Given the description of an element on the screen output the (x, y) to click on. 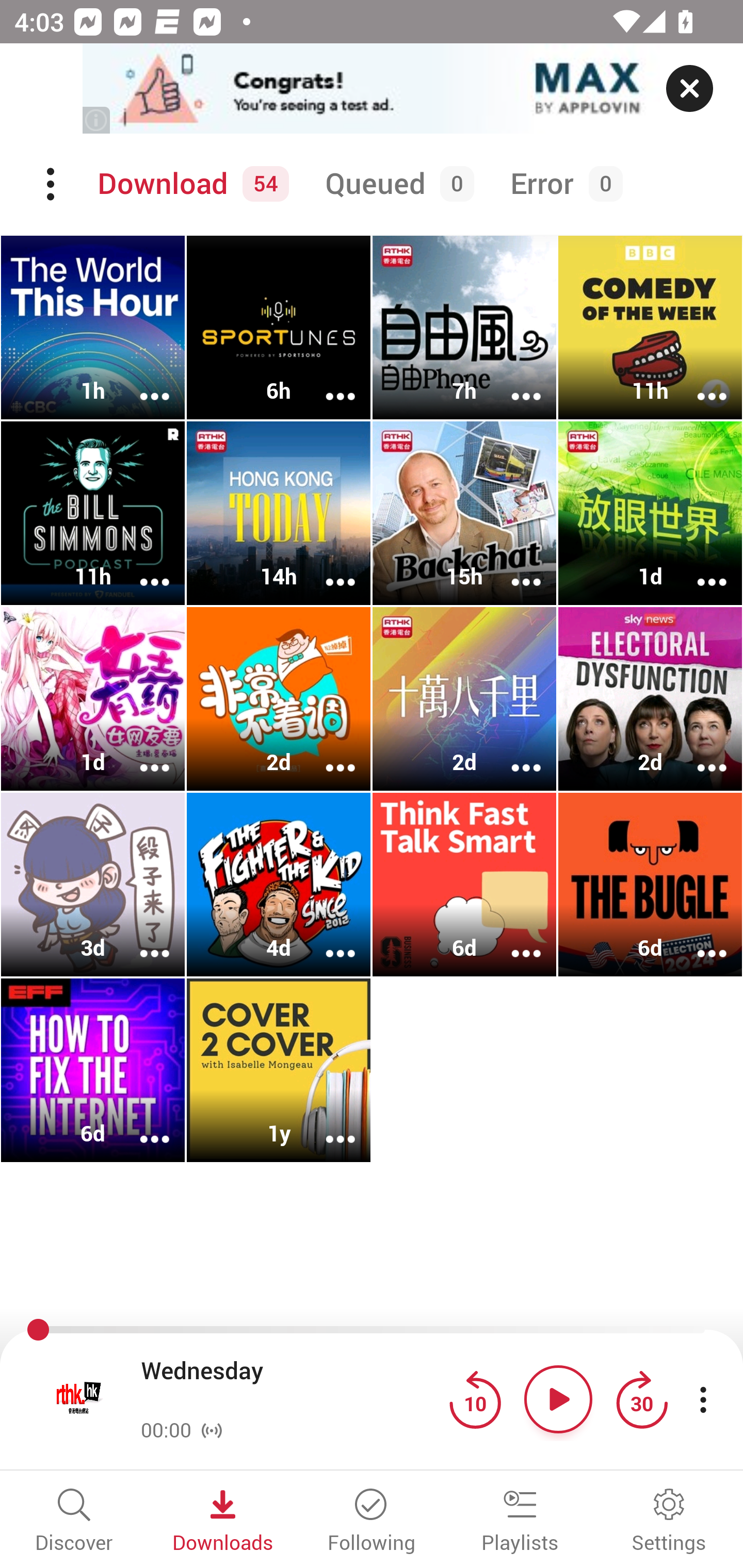
app-monetization (371, 88)
(i) (96, 119)
Menu (52, 184)
 Download 54 (189, 184)
 Queued 0 (396, 184)
 Error 0 (562, 184)
The World This Hour 1h More options More options (92, 327)
Sportunes HK 6h More options More options (278, 327)
自由风自由PHONE 7h More options More options (464, 327)
Comedy of the Week 11h More options More options (650, 327)
More options (141, 382)
More options (326, 382)
More options (512, 382)
More options (698, 382)
Hong Kong Today 14h More options More options (278, 513)
Backchat 15h More options More options (464, 513)
放眼世界 1d More options More options (650, 513)
More options (141, 569)
More options (326, 569)
More options (512, 569)
More options (698, 569)
女王有药丨爆笑脱口秀 1d More options More options (92, 698)
非常不着调 2d More options More options (278, 698)
十萬八千里 2d More options More options (464, 698)
Electoral Dysfunction 2d More options More options (650, 698)
More options (141, 754)
More options (326, 754)
More options (512, 754)
More options (698, 754)
段子来了 3d More options More options (92, 883)
The Fighter & The Kid 4d More options More options (278, 883)
The Bugle 6d More options More options (650, 883)
More options (141, 940)
More options (326, 940)
More options (512, 940)
More options (698, 940)
Cover 2 Cover 1y More options More options (278, 1069)
More options (141, 1125)
More options (326, 1125)
Open fullscreen player (79, 1399)
More player controls (703, 1399)
Wednesday (290, 1385)
Play button (558, 1398)
Jump back (475, 1399)
Jump forward (641, 1399)
Discover (74, 1521)
Downloads (222, 1521)
Following (371, 1521)
Playlists (519, 1521)
Settings (668, 1521)
